Given the description of an element on the screen output the (x, y) to click on. 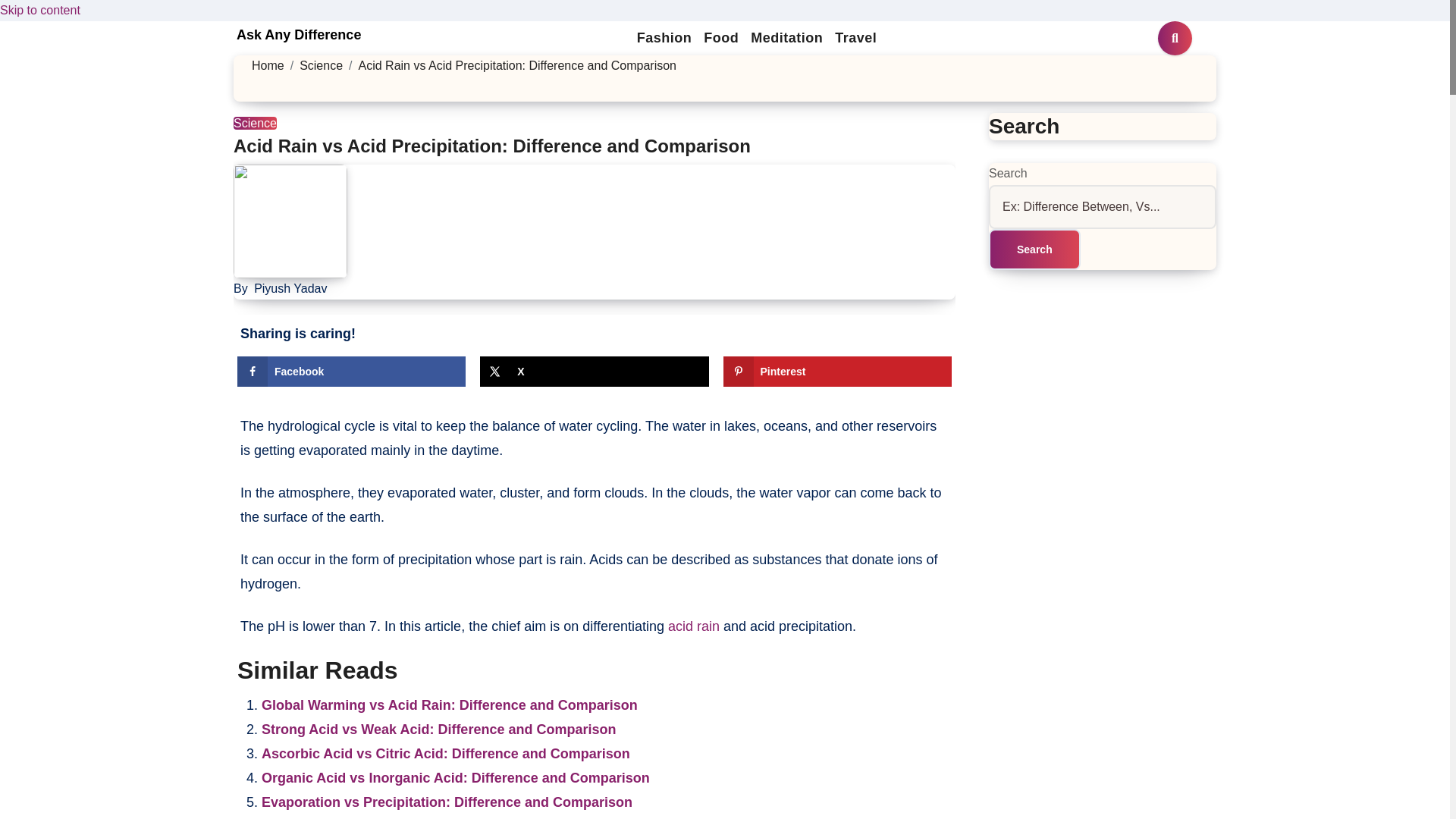
Pinterest (837, 371)
Global Warming vs Acid Rain: Difference and Comparison (449, 704)
Home (267, 65)
Share on Facebook (351, 371)
acid rain (693, 626)
Travel (855, 37)
Piyush Yadav (289, 287)
acid rain (693, 626)
Food (720, 37)
Fashion (664, 37)
Fashion (664, 37)
Ascorbic Acid vs Citric Acid: Difference and Comparison (446, 753)
Save to Pinterest (837, 371)
Global Warming vs Acid Rain: Difference and Comparison (449, 704)
Strong Acid vs Weak Acid: Difference and Comparison (438, 729)
